Given the description of an element on the screen output the (x, y) to click on. 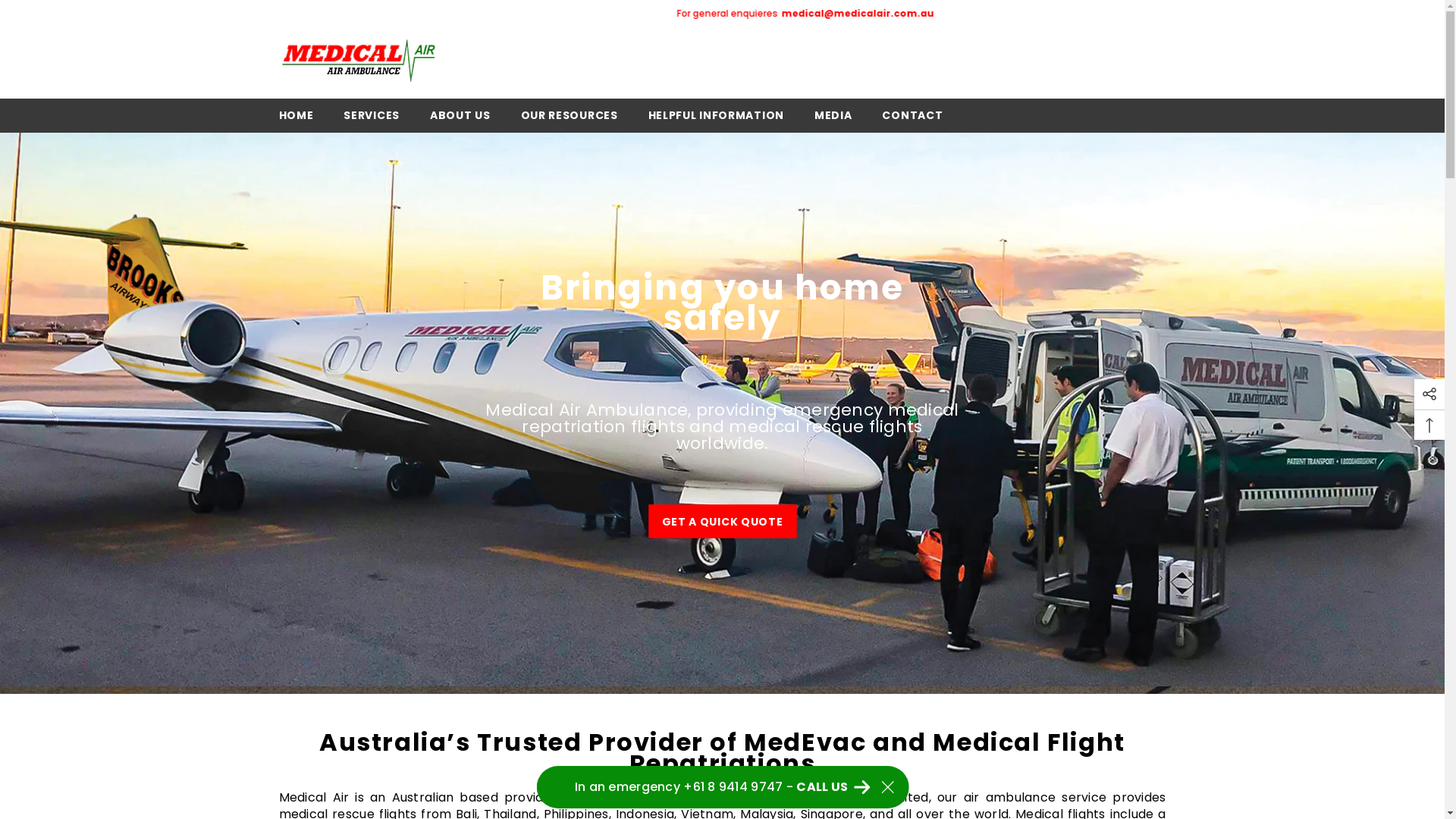
+61 8 9414 9747 Element type: text (652, 13)
ABOUT US Element type: text (459, 119)
SERVICES Element type: text (371, 119)
OUR RESOURCES Element type: text (569, 119)
CONTACT Element type: text (911, 119)
CALL US Element type: text (833, 789)
HOME Element type: text (296, 119)
MEDIA Element type: text (833, 119)
1300 633 247 Element type: text (811, 13)
HELPFUL INFORMATION Element type: text (716, 119)
GET A QUICK QUOTE Element type: text (722, 520)
